Given the description of an element on the screen output the (x, y) to click on. 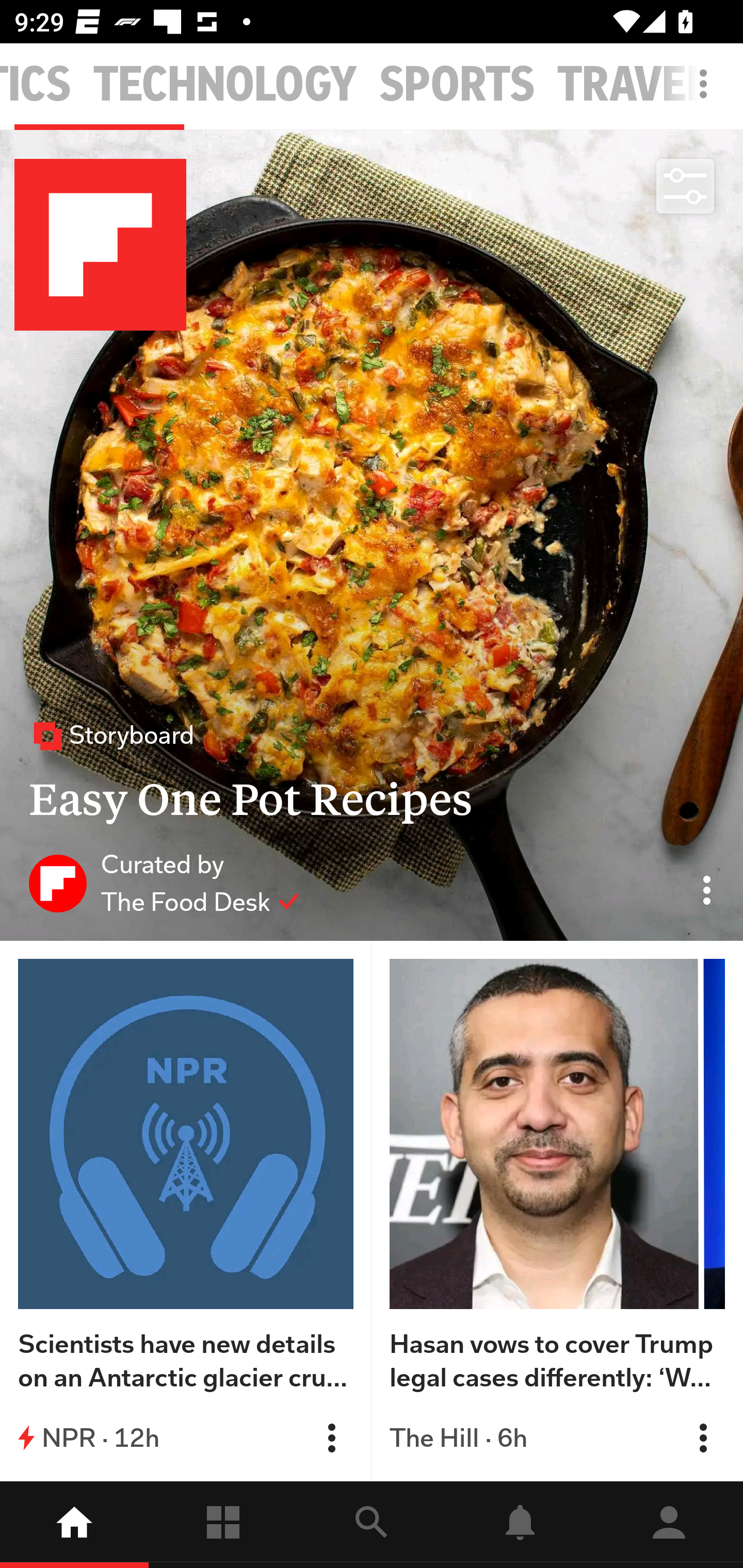
TECHNOLOGY (225, 84)
SPORTS (456, 84)
TRAVEL (632, 84)
More options (706, 93)
Curated by The Food Desk (163, 882)
NPR · 12h Flip into Magazine (185, 1437)
The Hill · 6h Flip into Magazine (557, 1437)
Flip into Magazine (331, 1437)
Flip into Magazine (703, 1437)
home (74, 1524)
Following (222, 1524)
explore (371, 1524)
Notifications (519, 1524)
Profile (668, 1524)
